Given the description of an element on the screen output the (x, y) to click on. 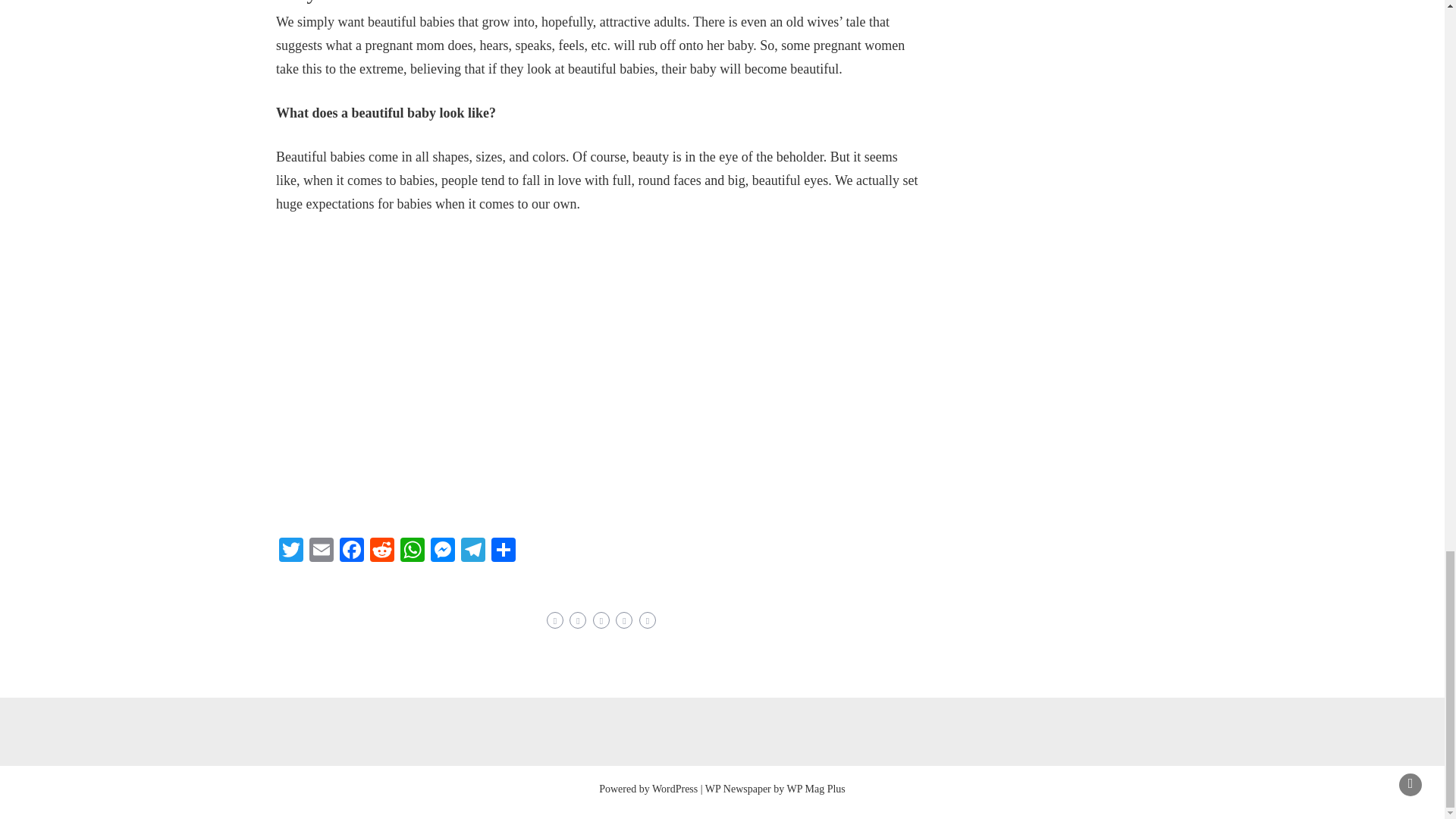
Email (320, 551)
Facebook (351, 551)
Messenger (443, 551)
Messenger (443, 551)
Twitter (290, 551)
Telegram (472, 551)
Share (502, 551)
Facebook (351, 551)
Twitter (290, 551)
Email (320, 551)
WhatsApp (412, 551)
Reddit (381, 551)
Telegram (472, 551)
Reddit (381, 551)
WhatsApp (412, 551)
